Given the description of an element on the screen output the (x, y) to click on. 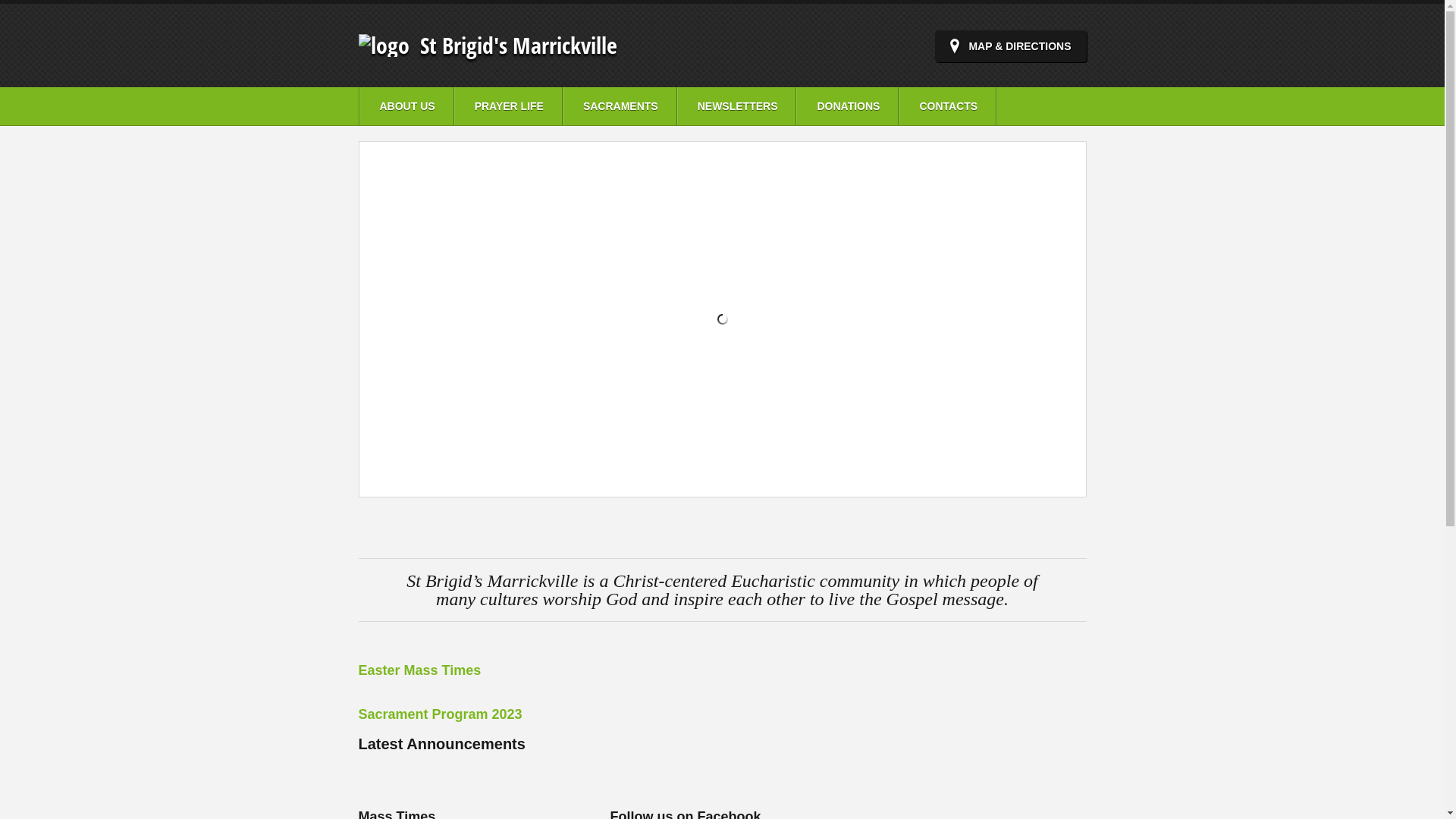
PRAYER LIFE Element type: text (508, 106)
ABOUT US Element type: text (405, 106)
NEWSLETTERS Element type: text (736, 106)
Sacrament Program 2023 Element type: text (439, 713)
DONATIONS Element type: text (847, 106)
St Brigid's Marrickville Element type: text (518, 44)
SACRAMENTS Element type: text (619, 106)
Easter Mass Times Element type: text (418, 669)
CONTACTS Element type: text (947, 106)
MAP & DIRECTIONS Element type: text (1010, 46)
St Brigid's Marrickville Element type: hover (382, 44)
